Given the description of an element on the screen output the (x, y) to click on. 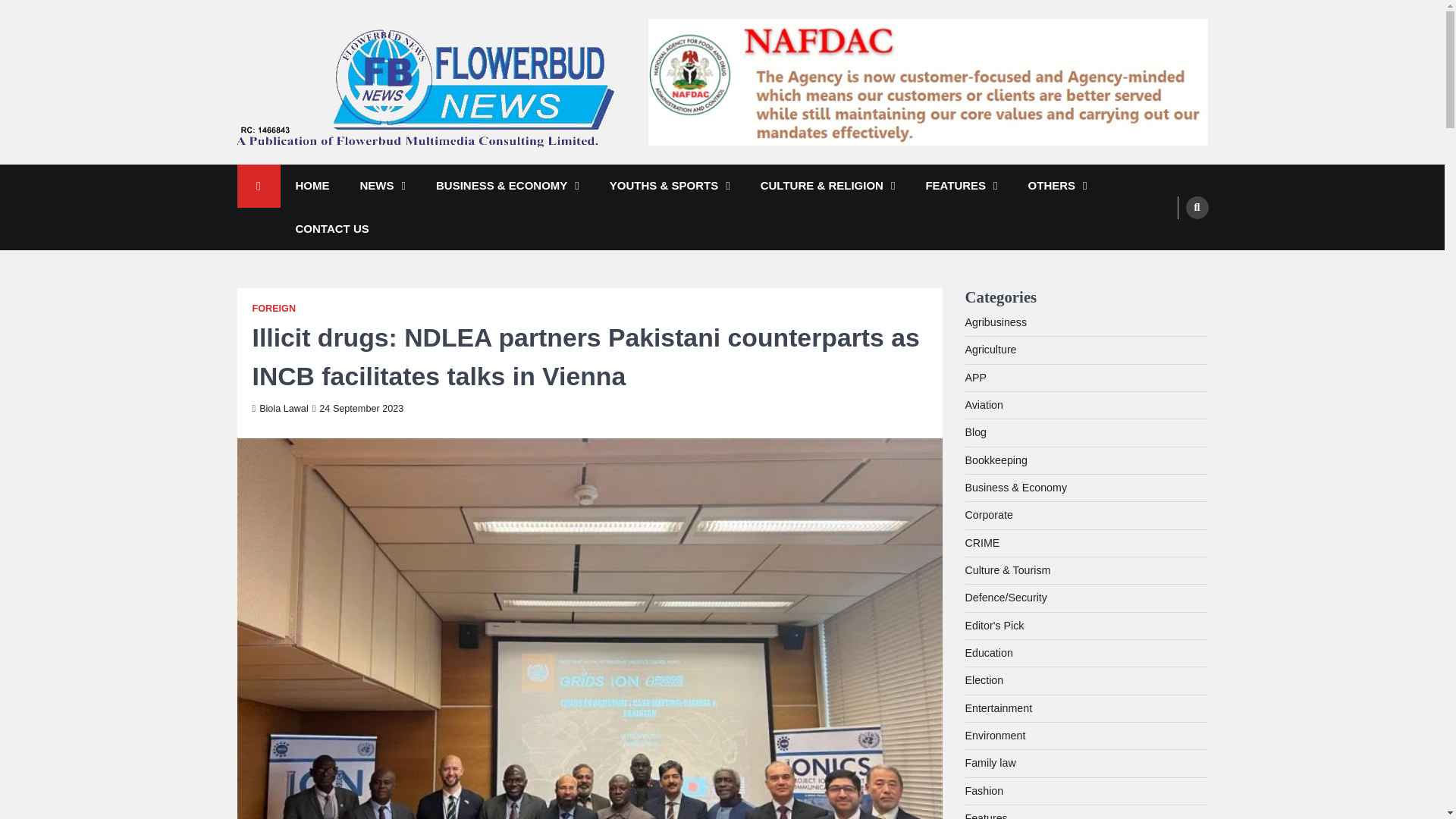
FEATURES (960, 186)
HOME (313, 186)
OTHERS (1057, 186)
NEWS (381, 186)
flowerbudnews.ng (335, 168)
Search (1197, 206)
